Given the description of an element on the screen output the (x, y) to click on. 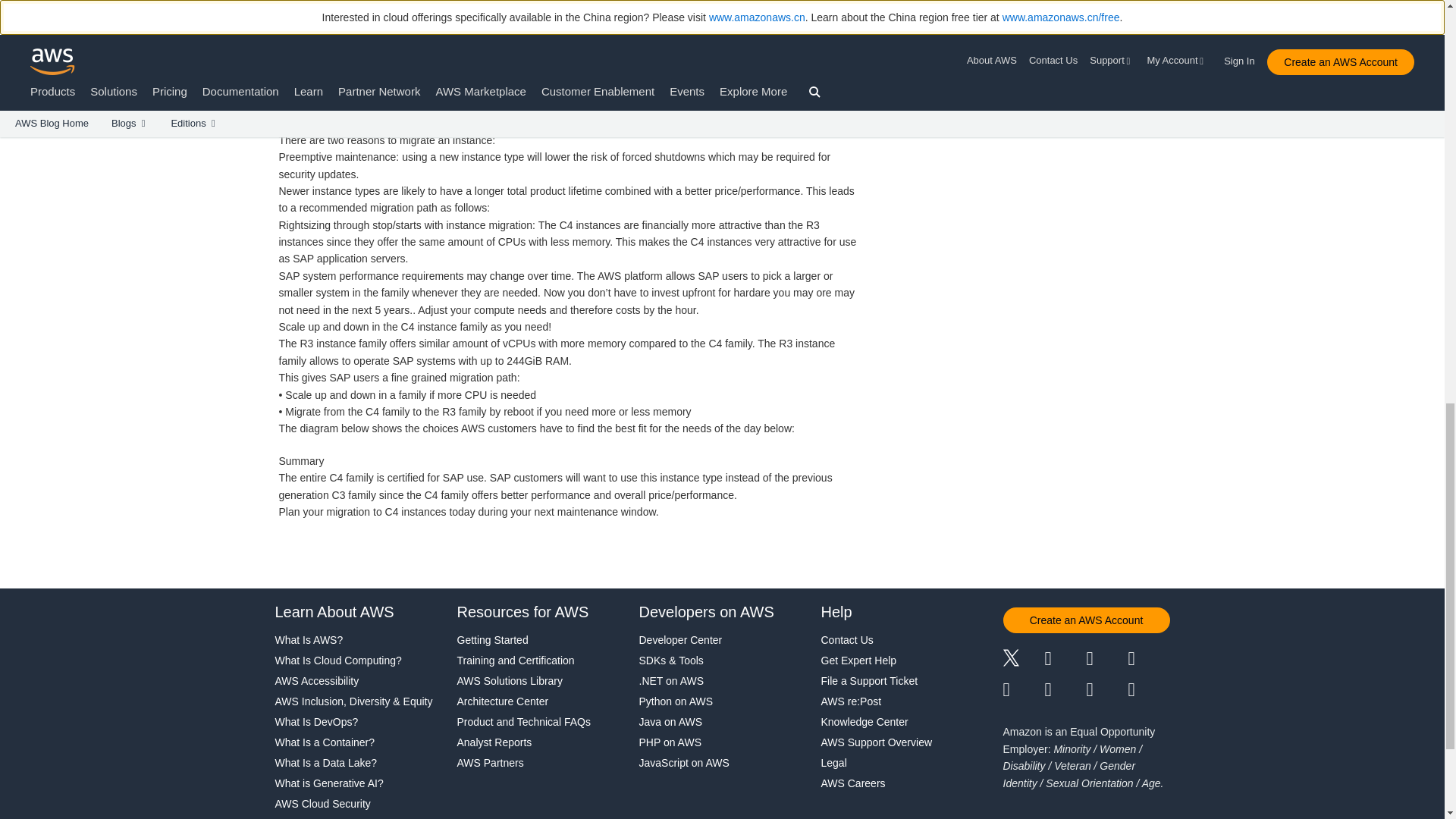
Email (1149, 690)
YouTube (1065, 690)
Twitter (1023, 659)
Podcast (1106, 690)
Instagram (1149, 659)
Linkedin (1106, 659)
Twitch (1023, 690)
Facebook (1065, 659)
